Given the description of an element on the screen output the (x, y) to click on. 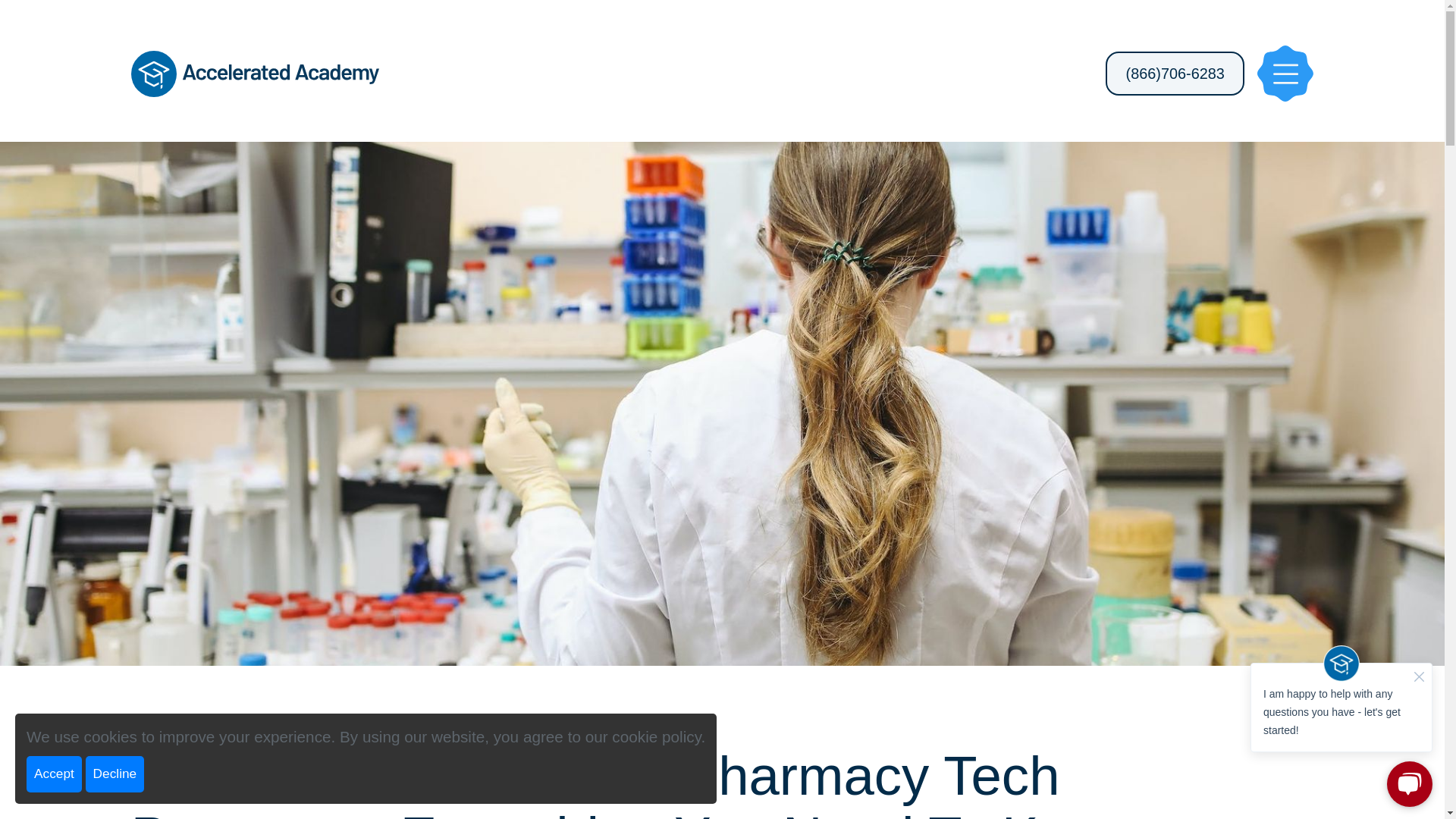
Decline (114, 773)
Accept (53, 773)
